Given the description of an element on the screen output the (x, y) to click on. 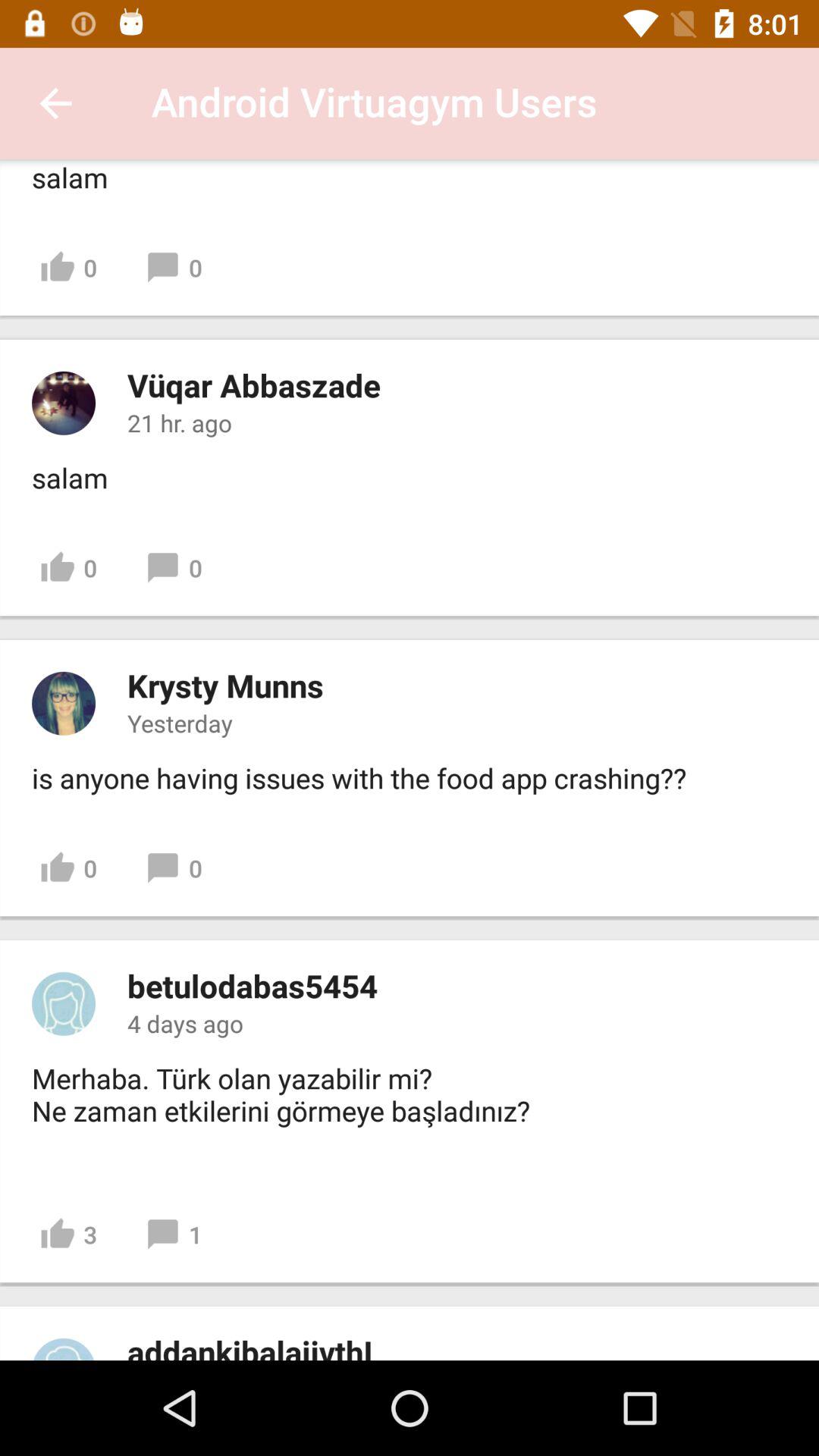
go to perfil (63, 403)
